Given the description of an element on the screen output the (x, y) to click on. 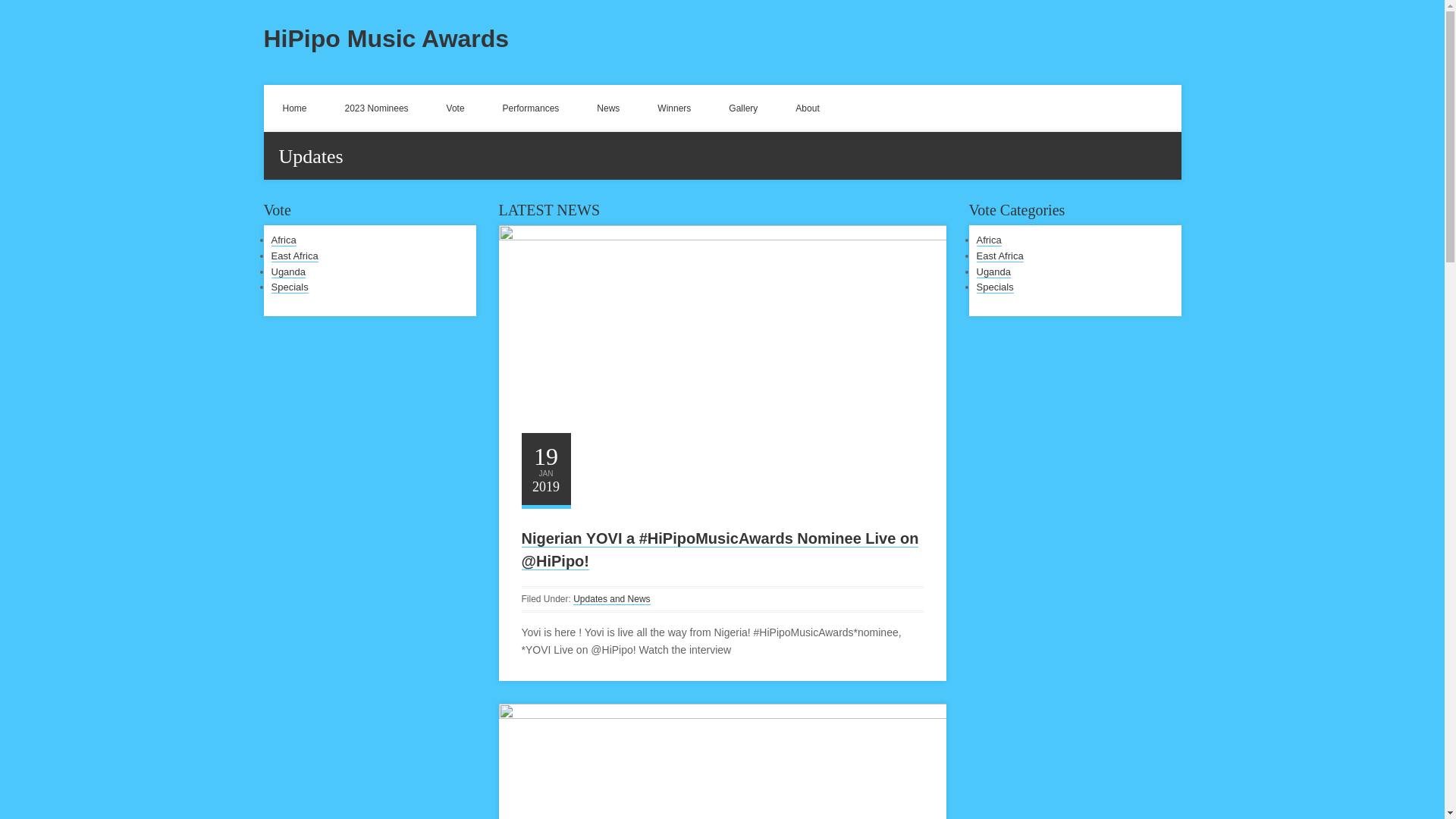
Gallery (743, 108)
HiPipo Music Awards (386, 38)
Winners (674, 108)
Home (294, 108)
About (807, 108)
Vote (455, 108)
Specials (289, 287)
Updates and News (611, 599)
Uganda (287, 272)
Performances (530, 108)
News (608, 108)
East Africa (294, 256)
2023 Nominees (377, 108)
Africa (283, 240)
